Given the description of an element on the screen output the (x, y) to click on. 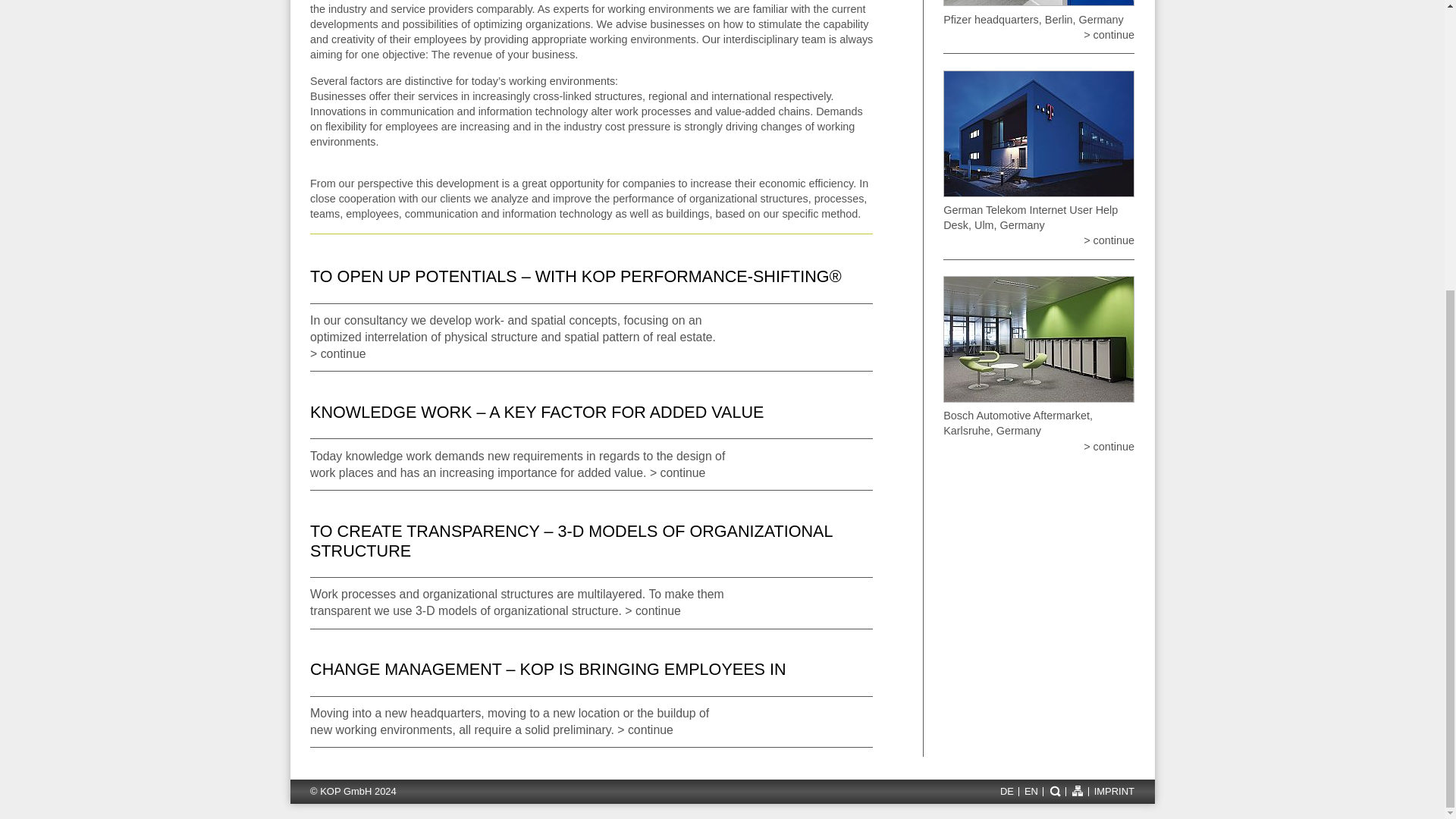
IMPRINT (1111, 791)
Search (1054, 790)
en (1030, 791)
DE (1005, 791)
Imprint (1111, 791)
EN (1030, 791)
Sitemap (1076, 790)
de (1005, 791)
SITEMAP (1076, 790)
SEARCH (1054, 790)
